Given the description of an element on the screen output the (x, y) to click on. 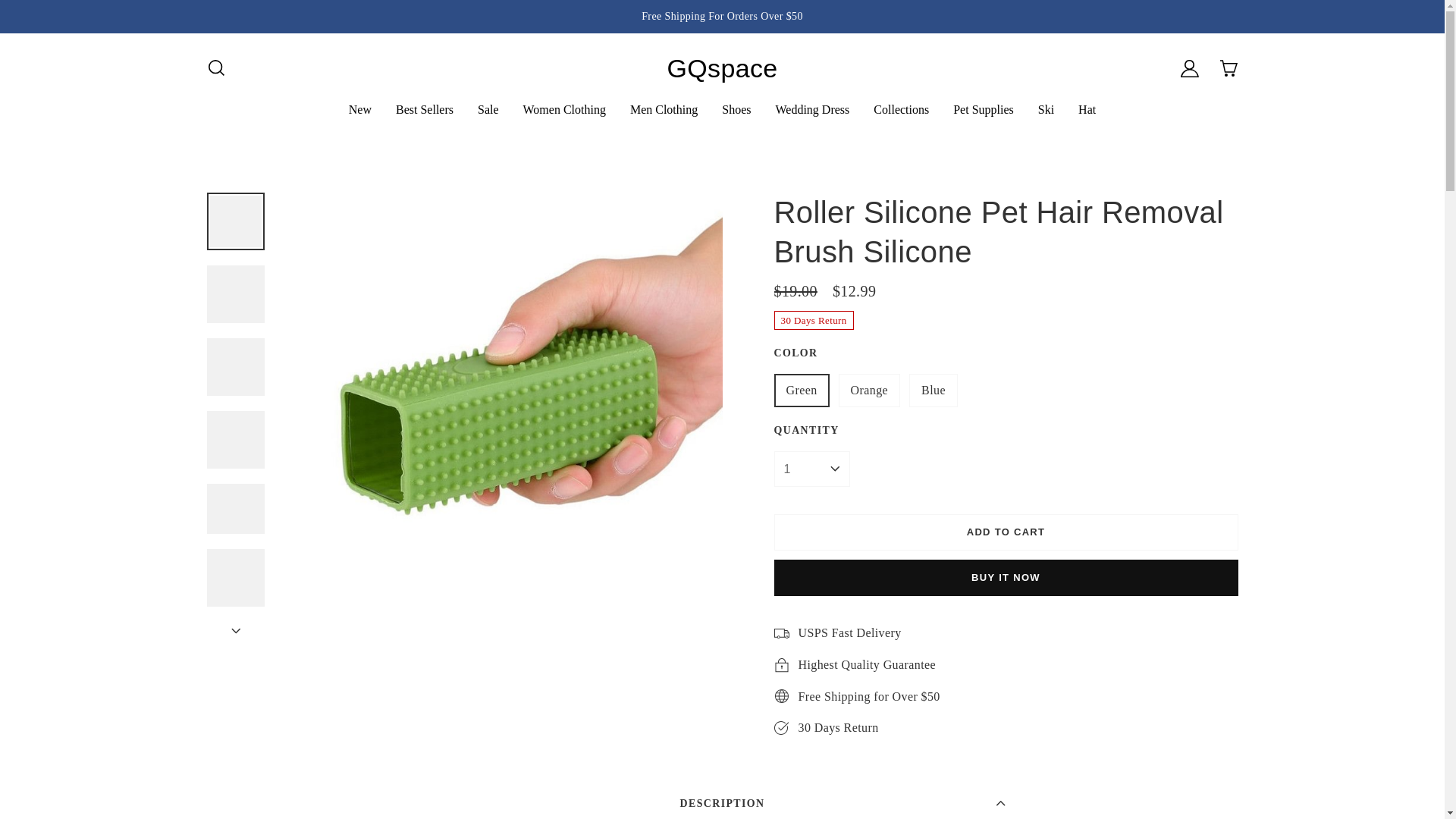
GQspace (721, 68)
Best Sellers (424, 109)
Women Clothing (563, 109)
Men Clothing (663, 109)
